Given the description of an element on the screen output the (x, y) to click on. 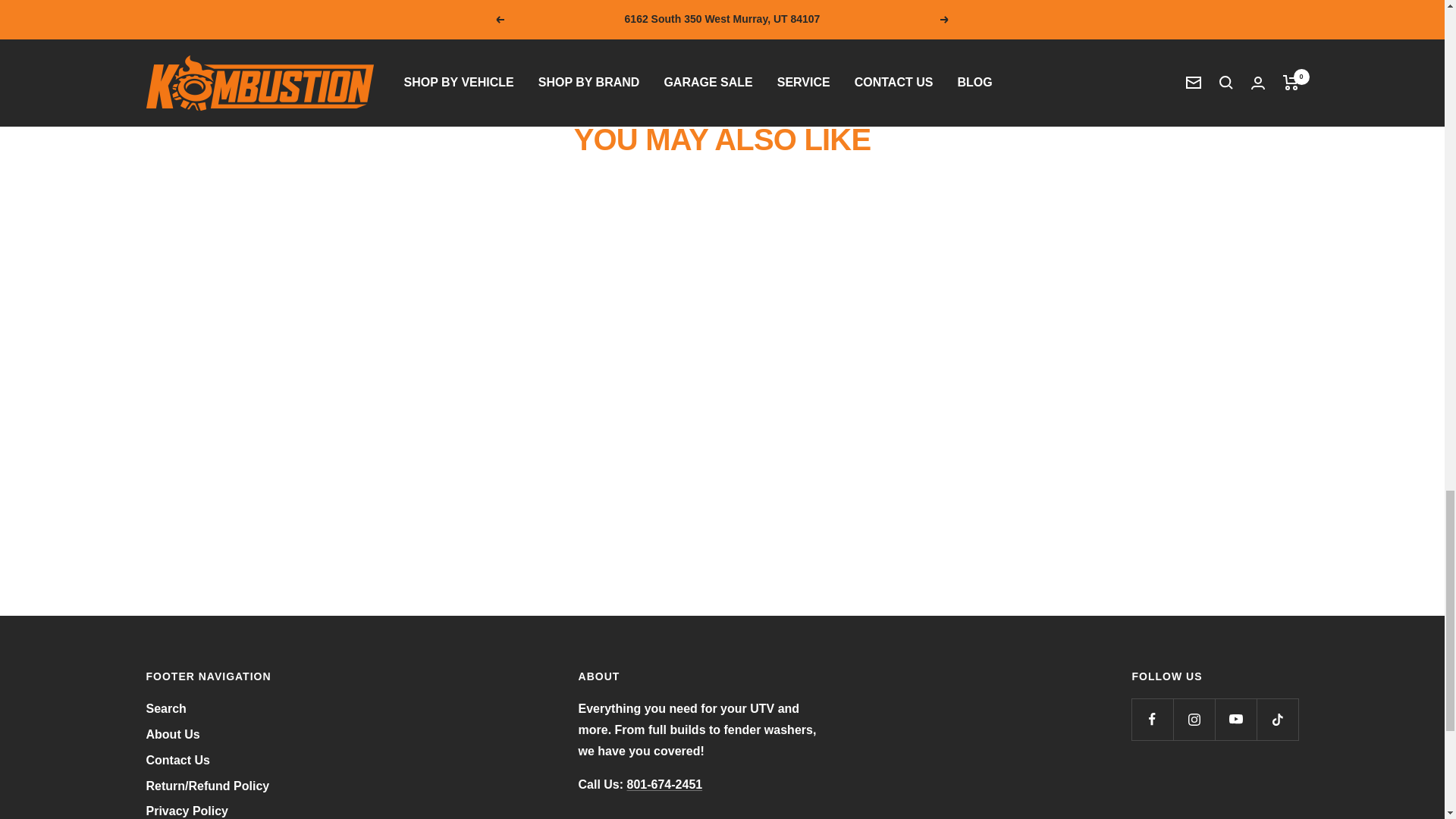
PSM21009.pdf (406, 51)
tel:8016742451 (665, 784)
